Given the description of an element on the screen output the (x, y) to click on. 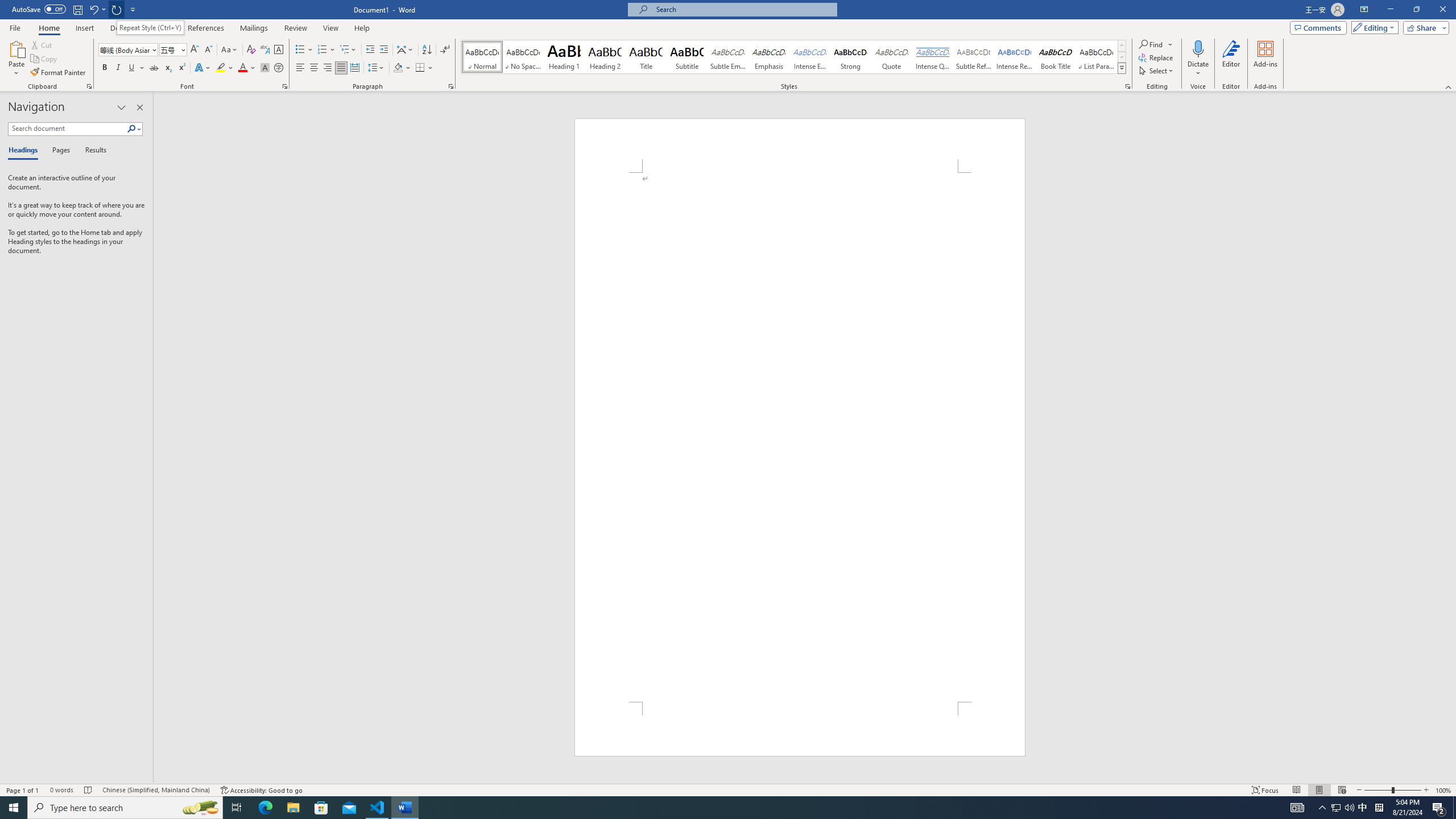
Subtle Reference (973, 56)
Show/Hide Editing Marks (444, 49)
Review (295, 28)
Row Down (1121, 56)
Grow Font (193, 49)
Bullets (304, 49)
Bold (104, 67)
Search document (66, 128)
Focus  (1265, 790)
Page 1 content (800, 436)
Superscript (180, 67)
Phonetic Guide... (264, 49)
